Given the description of an element on the screen output the (x, y) to click on. 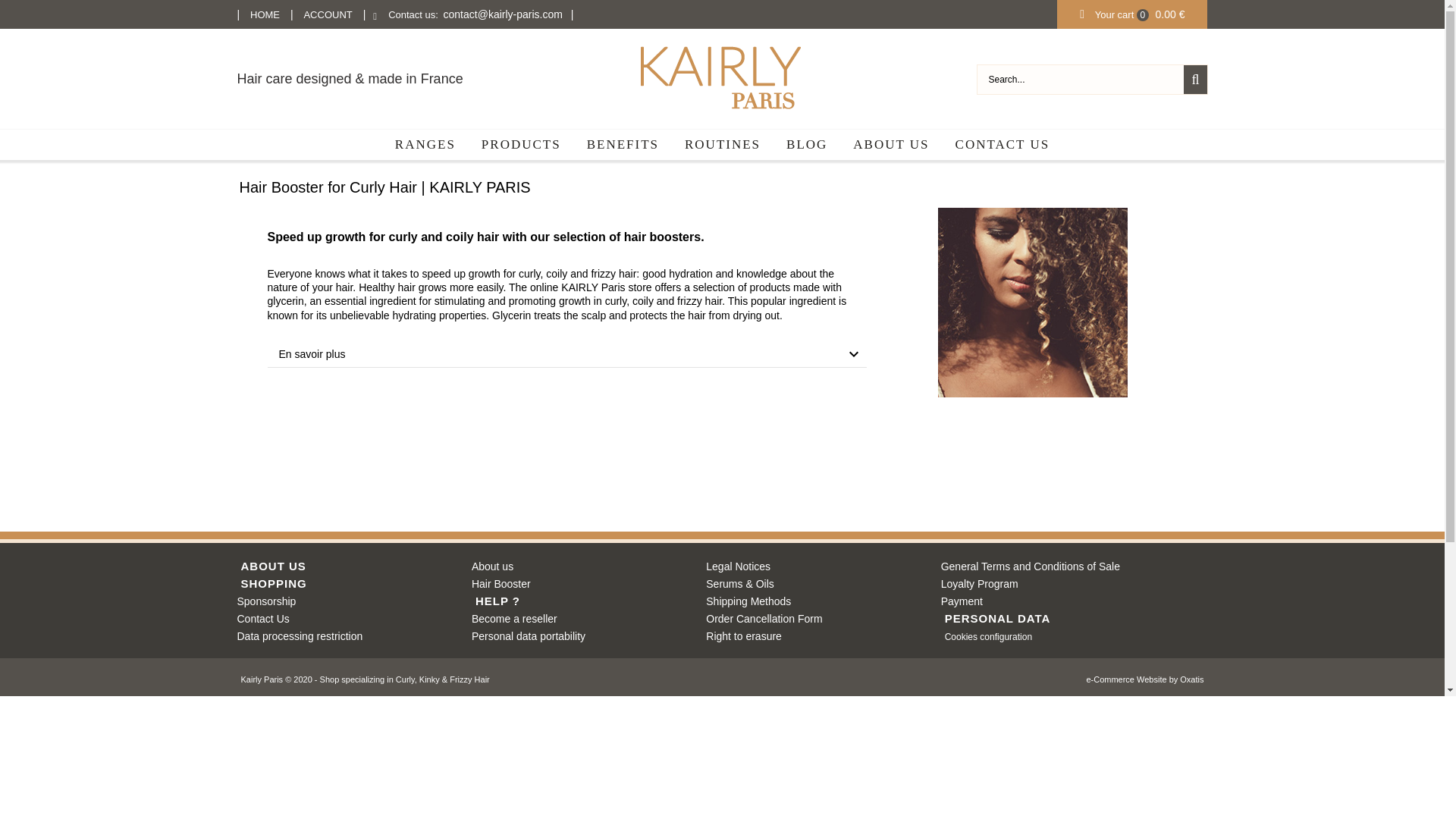
RANGES (424, 144)
ROUTINES (722, 144)
ACCOUNT (327, 14)
HOME (264, 14)
Search... (1079, 79)
BENEFITS (622, 144)
Search... (1079, 79)
PRODUCTS (520, 144)
Your cart (1114, 14)
